Given the description of an element on the screen output the (x, y) to click on. 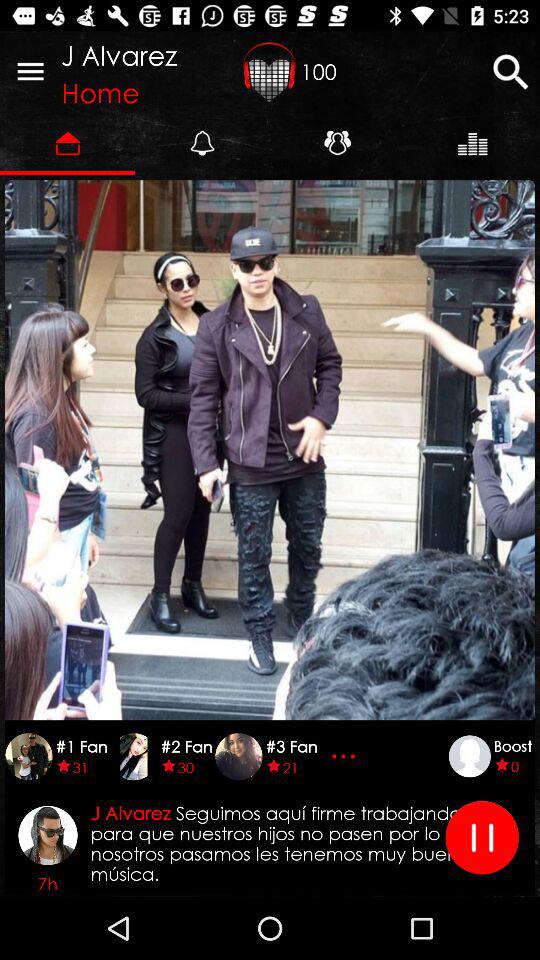
search button (510, 71)
